Given the description of an element on the screen output the (x, y) to click on. 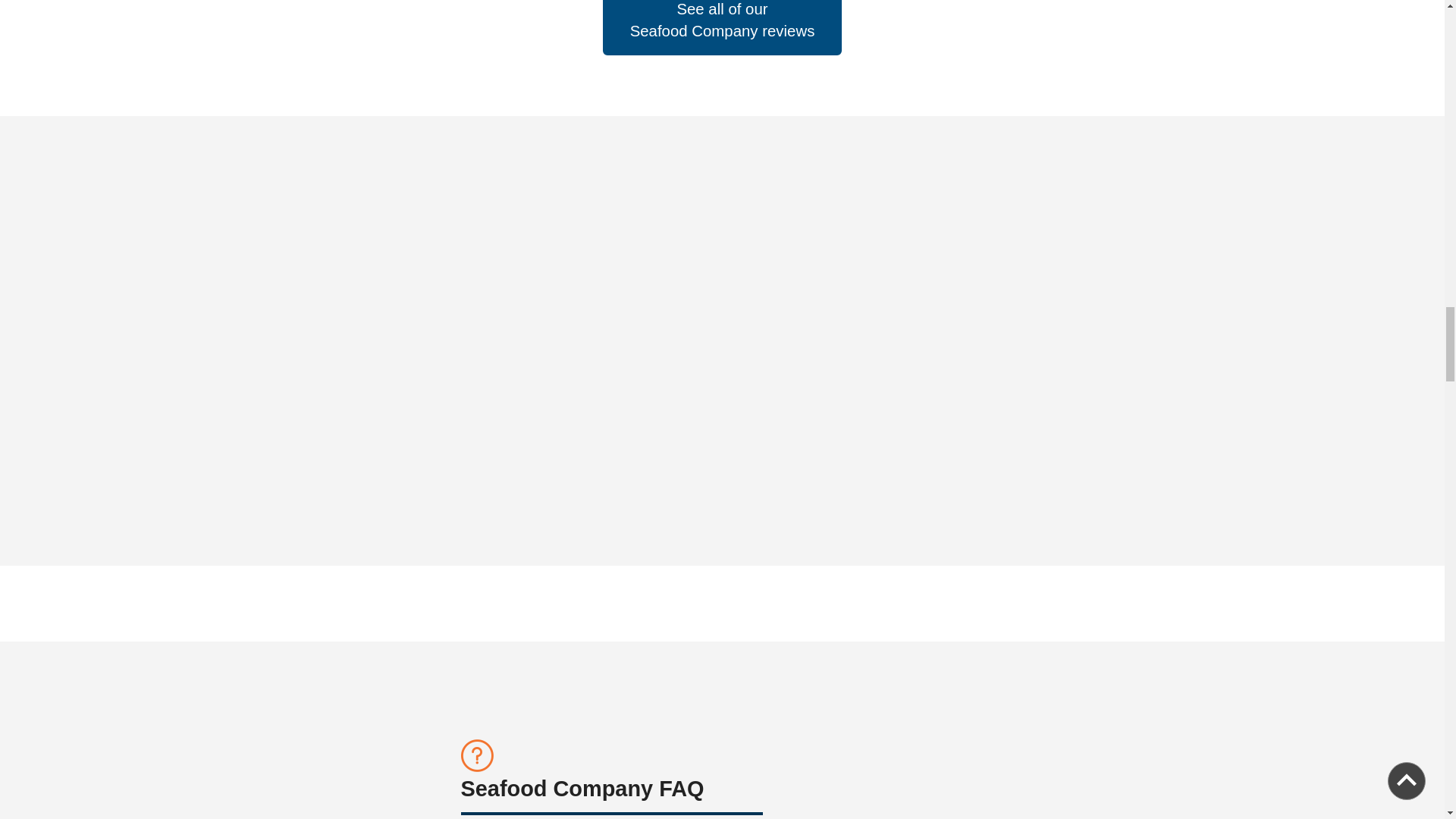
Seafood Company reviews (722, 32)
